Given the description of an element on the screen output the (x, y) to click on. 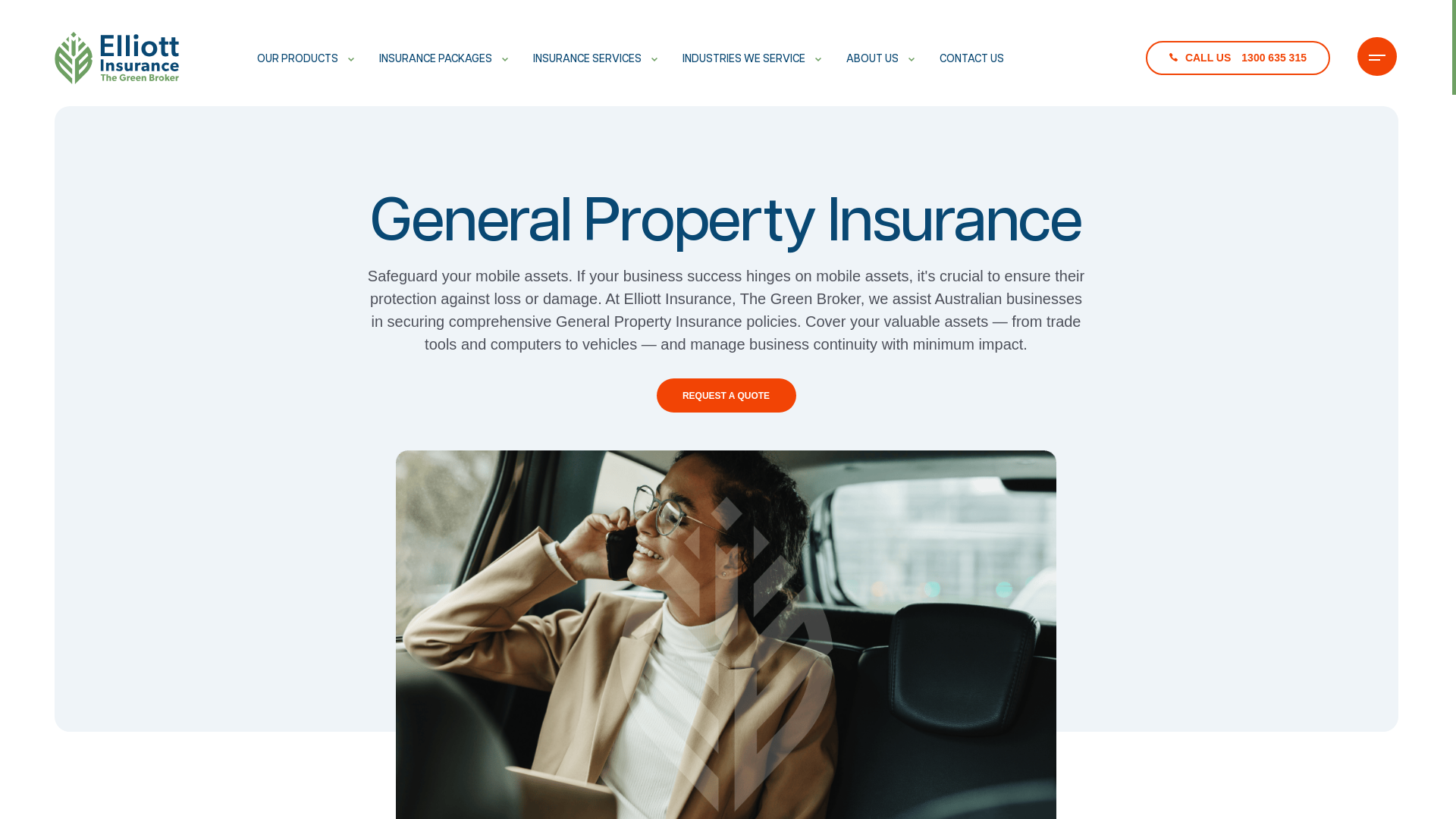
INSURANCE SERVICES Element type: text (594, 58)
INDUSTRIES WE SERVICE Element type: text (751, 58)
CONTACT US Element type: text (970, 58)
REQUEST A QUOTE Element type: text (726, 395)
ABOUT US Element type: text (880, 58)
INSURANCE PACKAGES Element type: text (443, 58)
OUR PRODUCTS Element type: text (304, 58)
CALL US
1300 635 315 Element type: text (1237, 57)
